Given the description of an element on the screen output the (x, y) to click on. 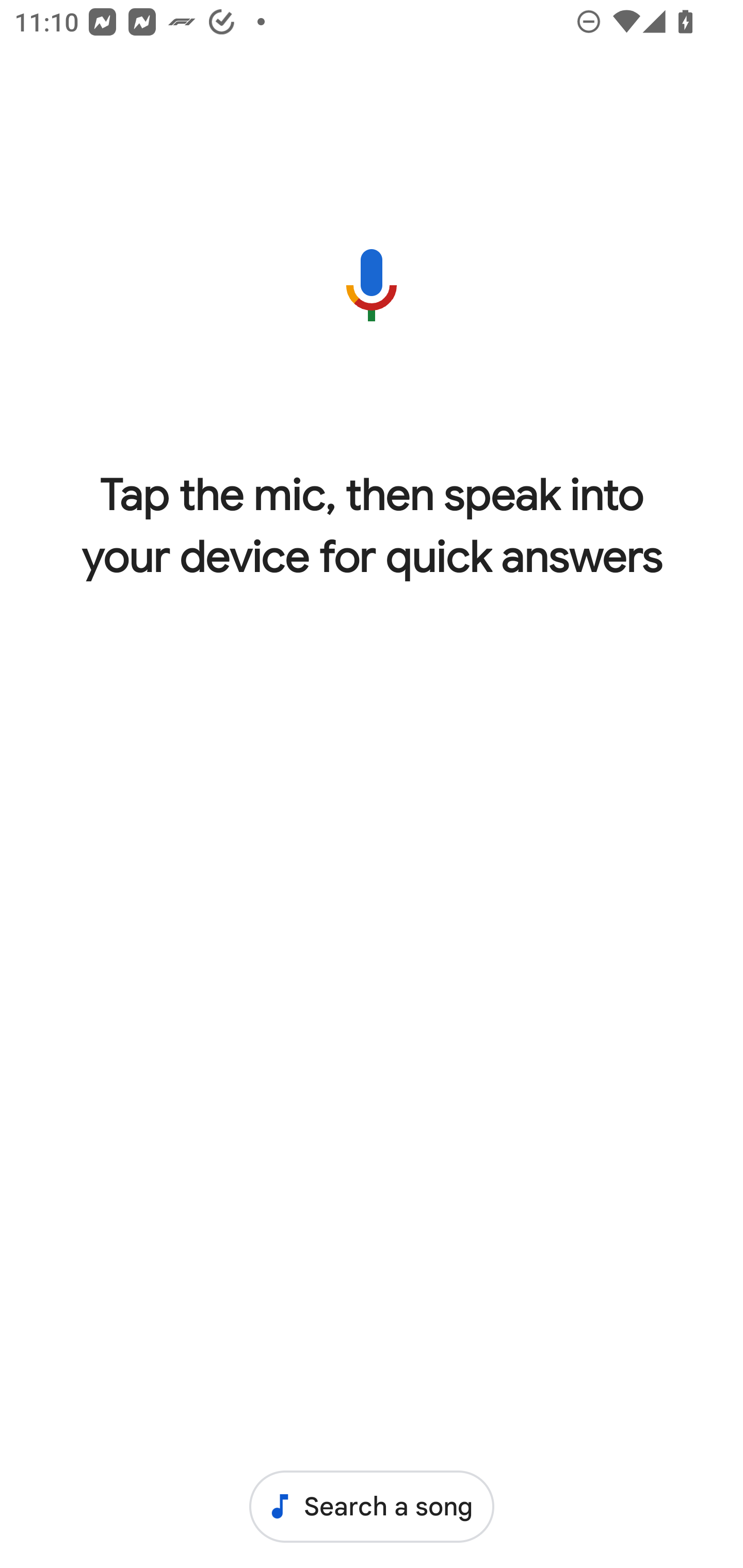
Search a song (371, 1505)
